Given the description of an element on the screen output the (x, y) to click on. 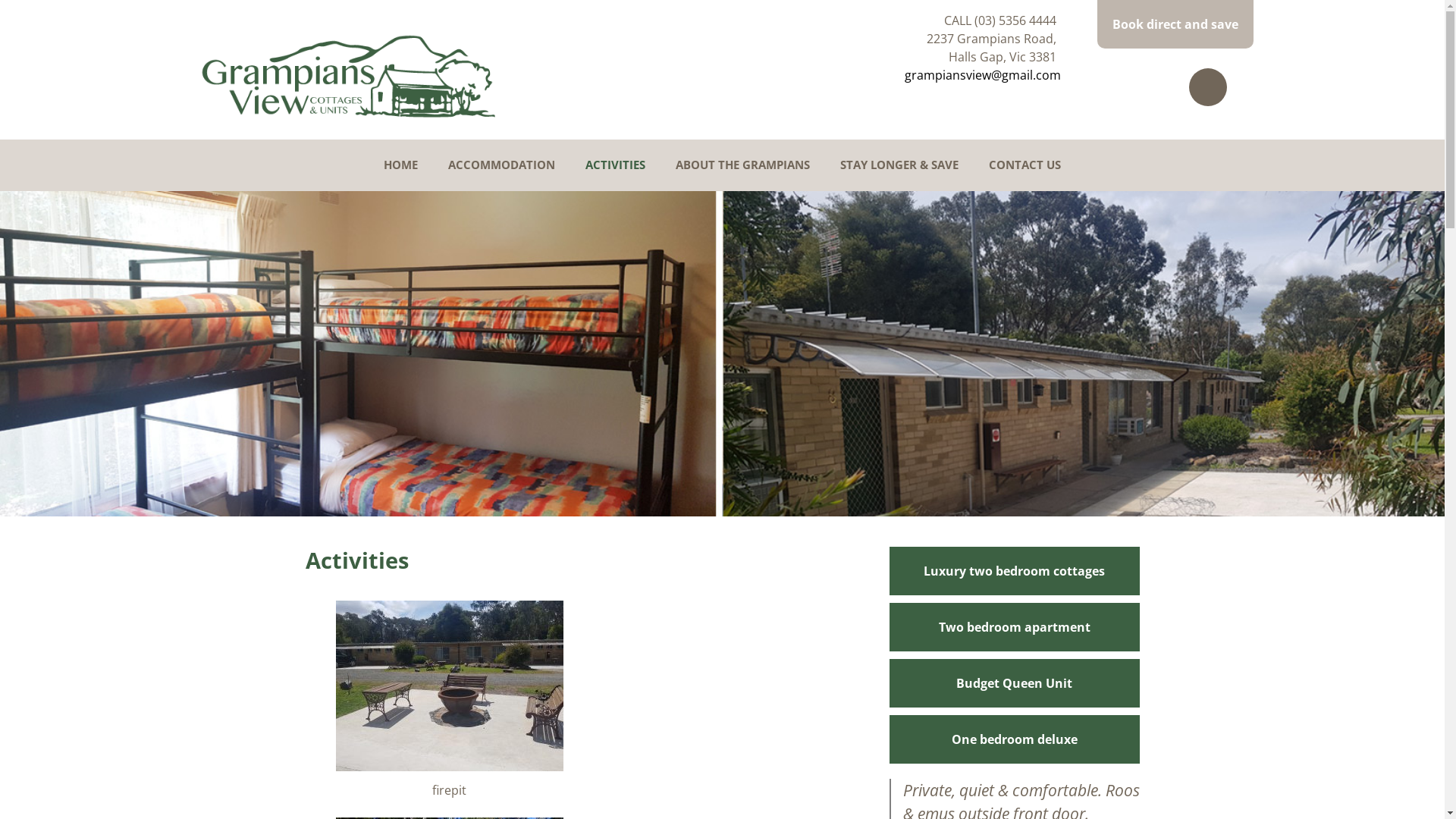
CONTACT US Element type: text (1024, 165)
Two bedroom apartment Element type: text (1013, 626)
ACTIVITIES Element type: text (615, 165)
ACCOMMODATION Element type: text (501, 165)
STAY LONGER & SAVE Element type: text (899, 165)
grampiansview@gmail.com Element type: text (981, 74)
ABOUT THE GRAMPIANS Element type: text (742, 165)
One bedroom deluxe Element type: text (1013, 738)
Luxury two bedroom cottages Element type: text (1013, 570)
HOME Element type: text (400, 165)
Book direct and save Element type: text (1174, 24)
new1 Element type: hover (722, 353)
Facebook Element type: hover (1207, 87)
Budget Queen Unit Element type: text (1013, 682)
